Given the description of an element on the screen output the (x, y) to click on. 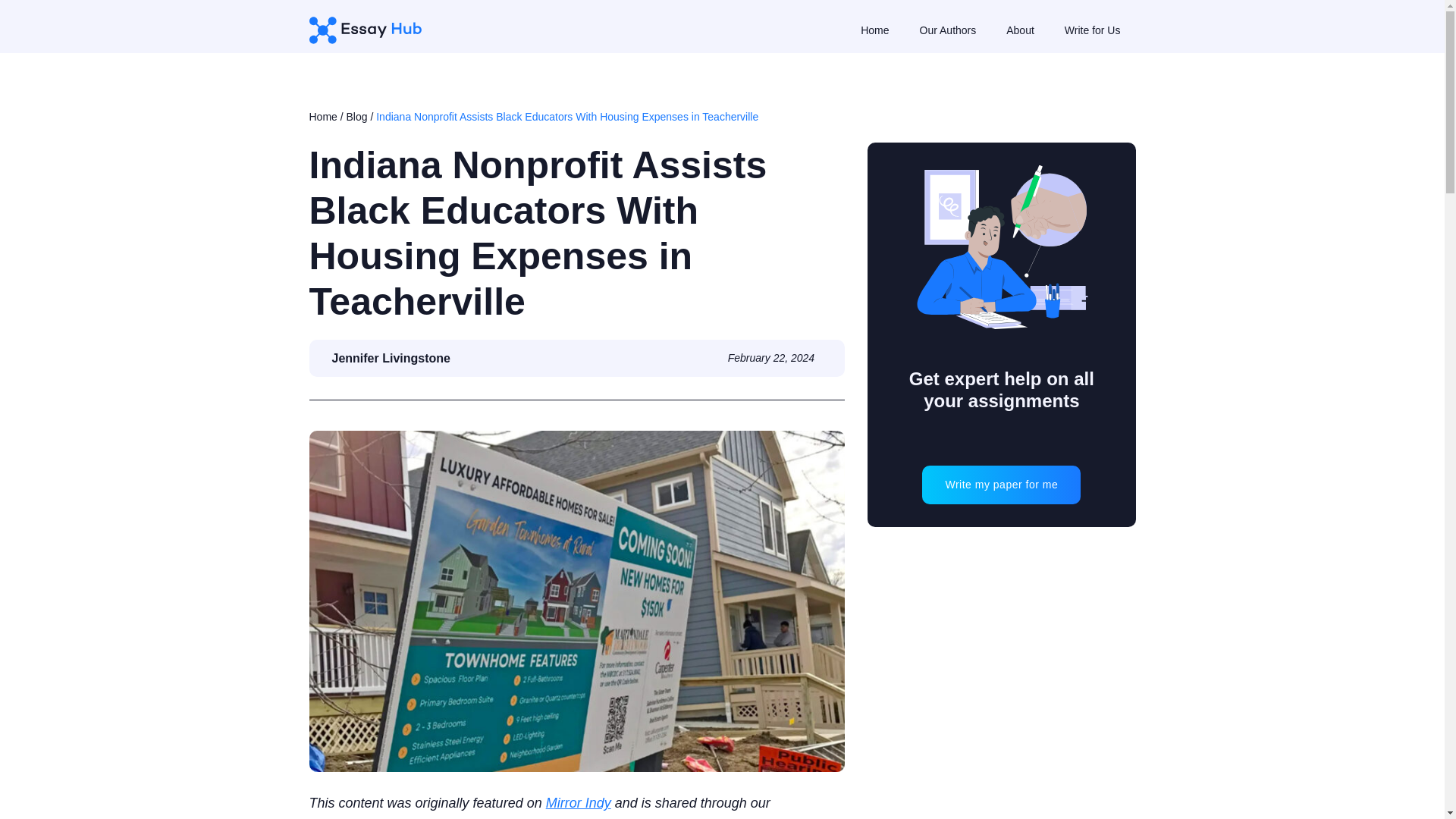
Write my paper for me (1000, 485)
EssayHub (370, 30)
Our Authors (948, 30)
Free Press Indiana (447, 818)
Jennifer Livingstone (386, 358)
Mirror Indy (578, 802)
Write for Us (1092, 30)
Home (322, 116)
Home (874, 30)
About (1019, 30)
Blog (357, 116)
